Given the description of an element on the screen output the (x, y) to click on. 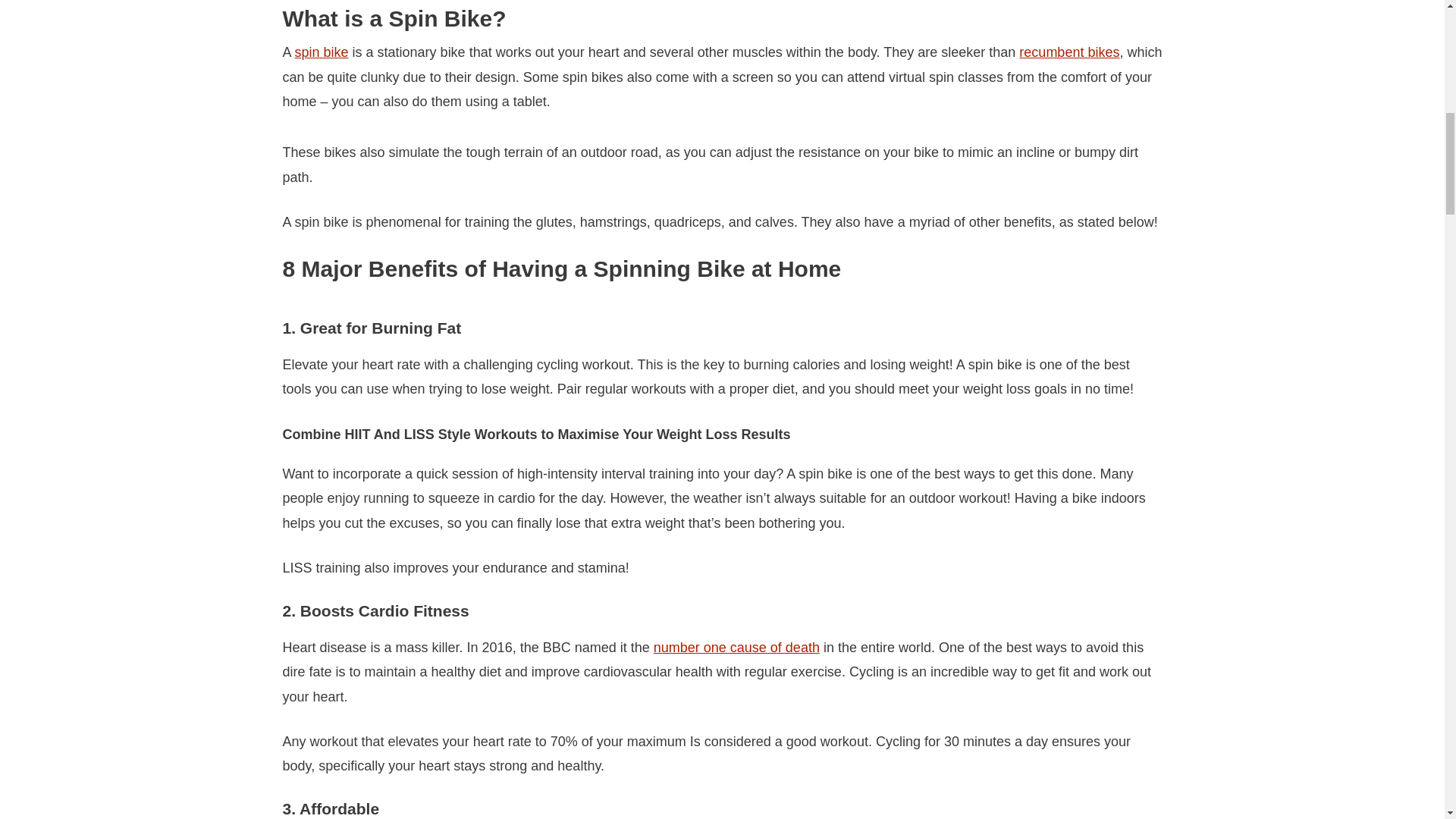
recumbent bikes (1069, 52)
spin bike (322, 52)
number one cause of death (736, 647)
